Given the description of an element on the screen output the (x, y) to click on. 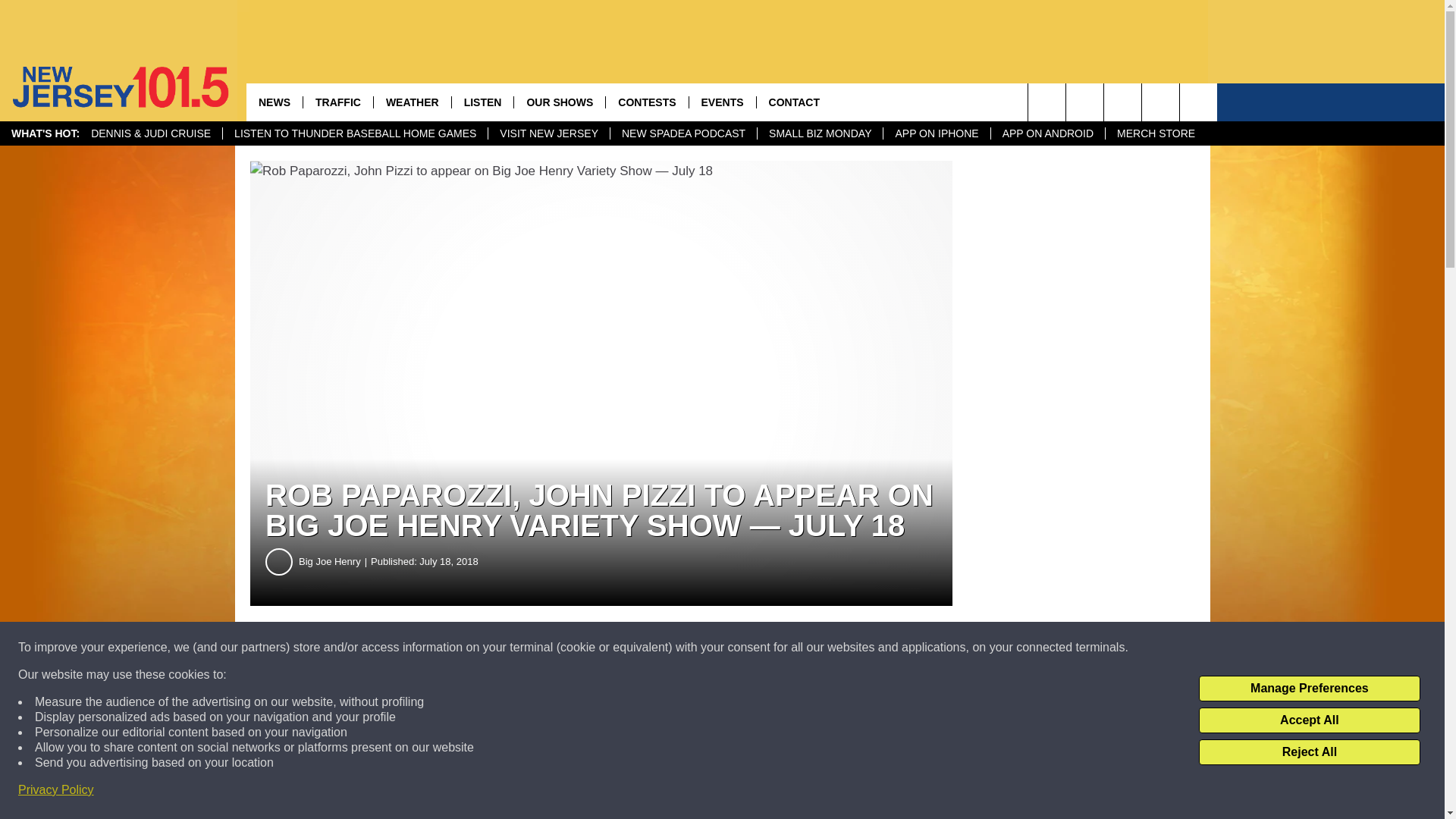
APP ON ANDROID (1047, 133)
Reject All (1309, 751)
APP ON IPHONE (936, 133)
LISTEN TO THUNDER BASEBALL HOME GAMES (354, 133)
Share on Facebook (460, 647)
TRAFFIC (337, 102)
Accept All (1309, 720)
SMALL BIZ MONDAY (819, 133)
LISTEN (482, 102)
Manage Preferences (1309, 688)
Privacy Policy (55, 789)
NEW SPADEA PODCAST (683, 133)
NEWS (274, 102)
WEATHER (411, 102)
Share on Twitter (741, 647)
